Given the description of an element on the screen output the (x, y) to click on. 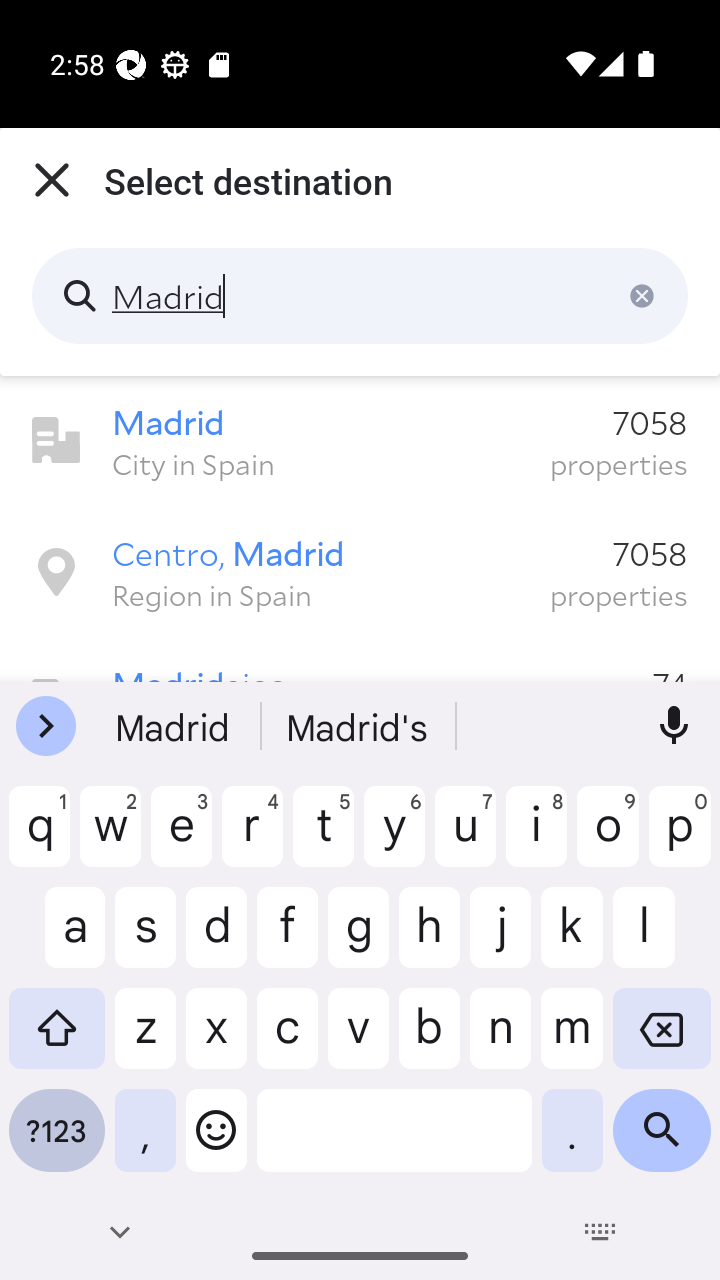
Madrid (359, 296)
Madrid 7058 City in Spain properties (360, 441)
Centro, Madrid 7058 Region in Spain properties (360, 571)
